Given the description of an element on the screen output the (x, y) to click on. 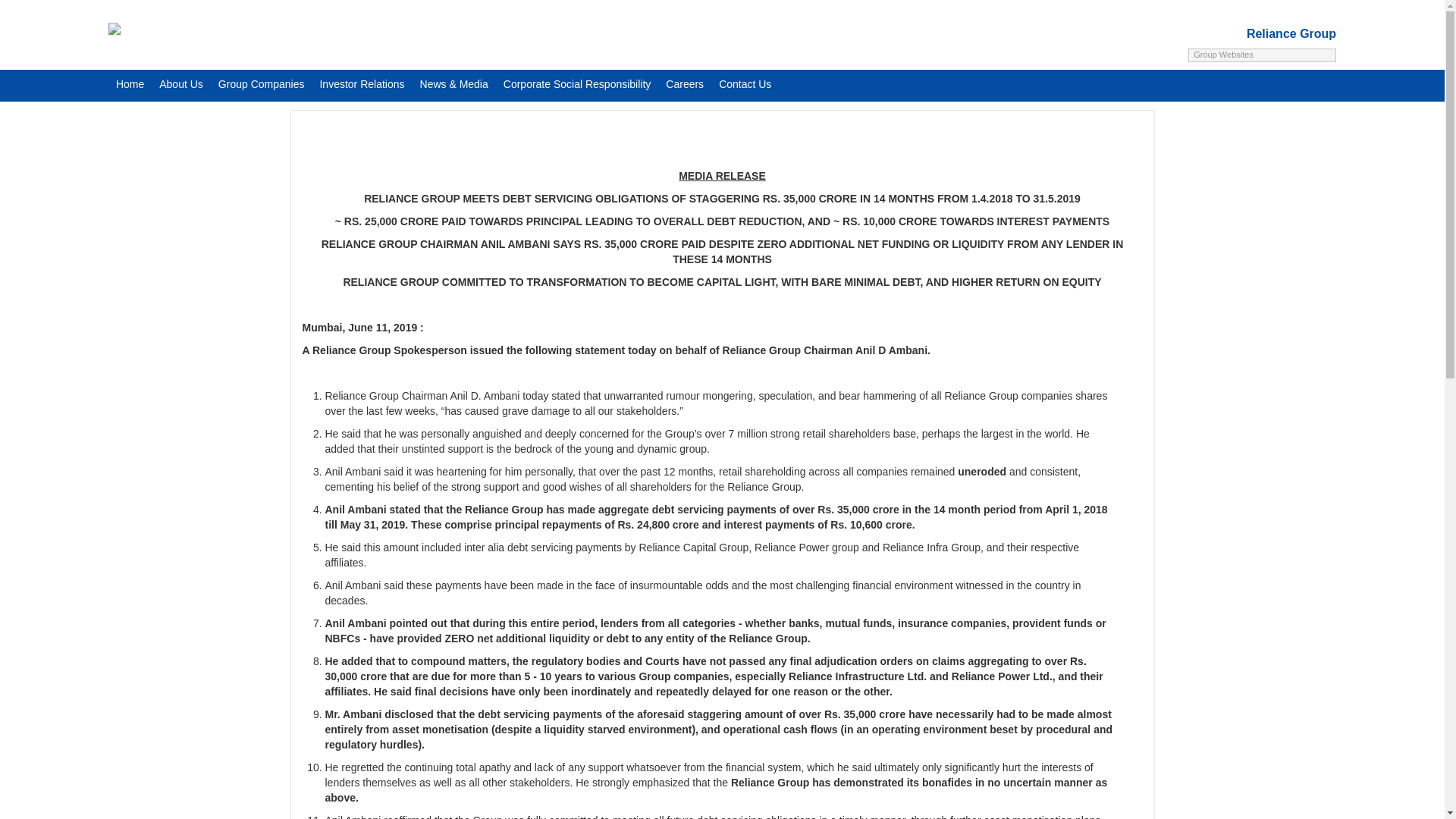
Group Companies (262, 79)
Investor Relations (361, 79)
About Us (181, 79)
Home (129, 79)
